Given the description of an element on the screen output the (x, y) to click on. 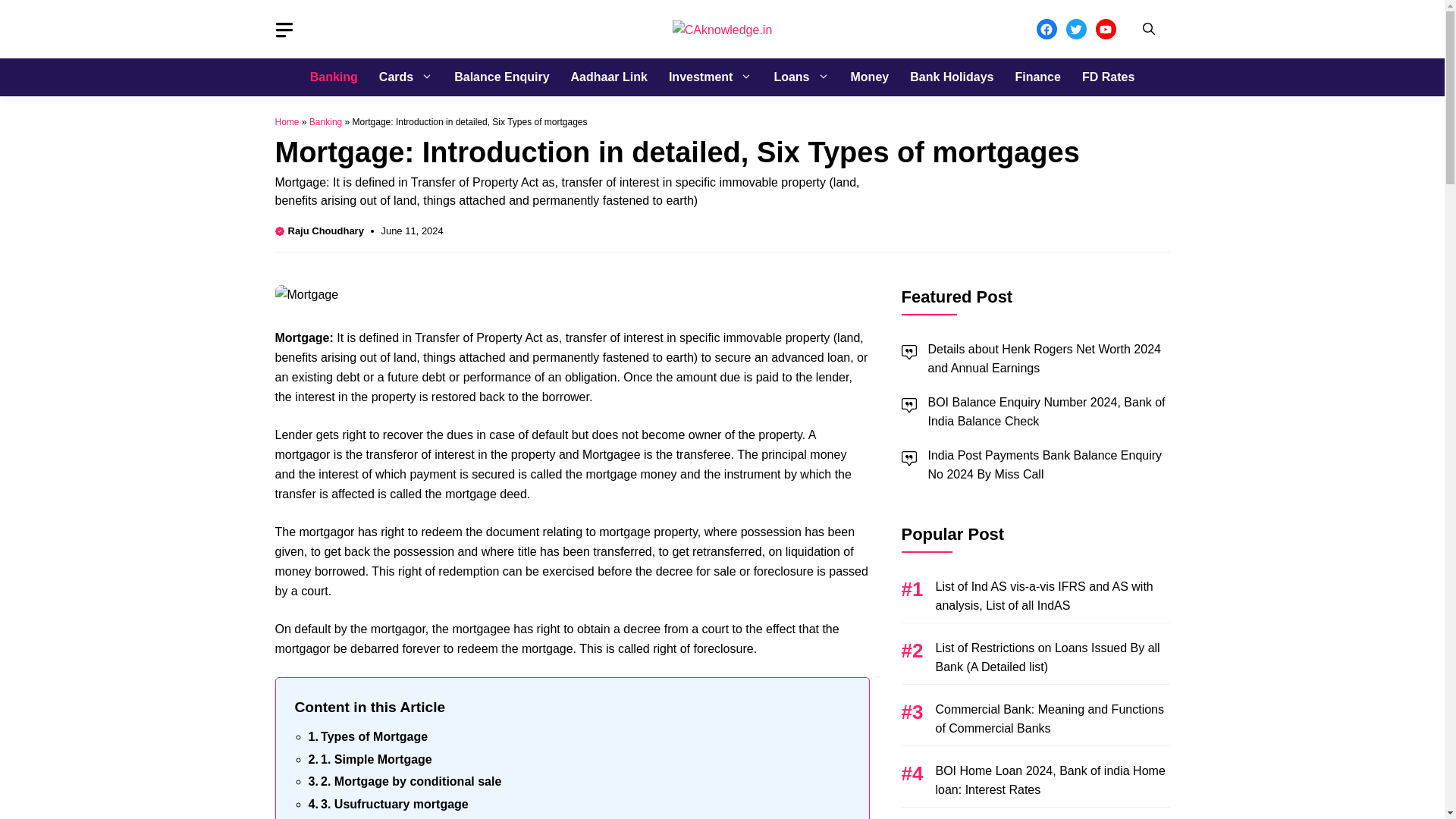
1. Simple Mortgage (368, 759)
Balance Enquiry (501, 77)
YouTube (1104, 28)
Cards (406, 77)
2. Mortgage by conditional sale (403, 781)
Finance (1037, 77)
Home (286, 122)
Banking (333, 77)
FD Rates (1107, 77)
Money (869, 77)
